Given the description of an element on the screen output the (x, y) to click on. 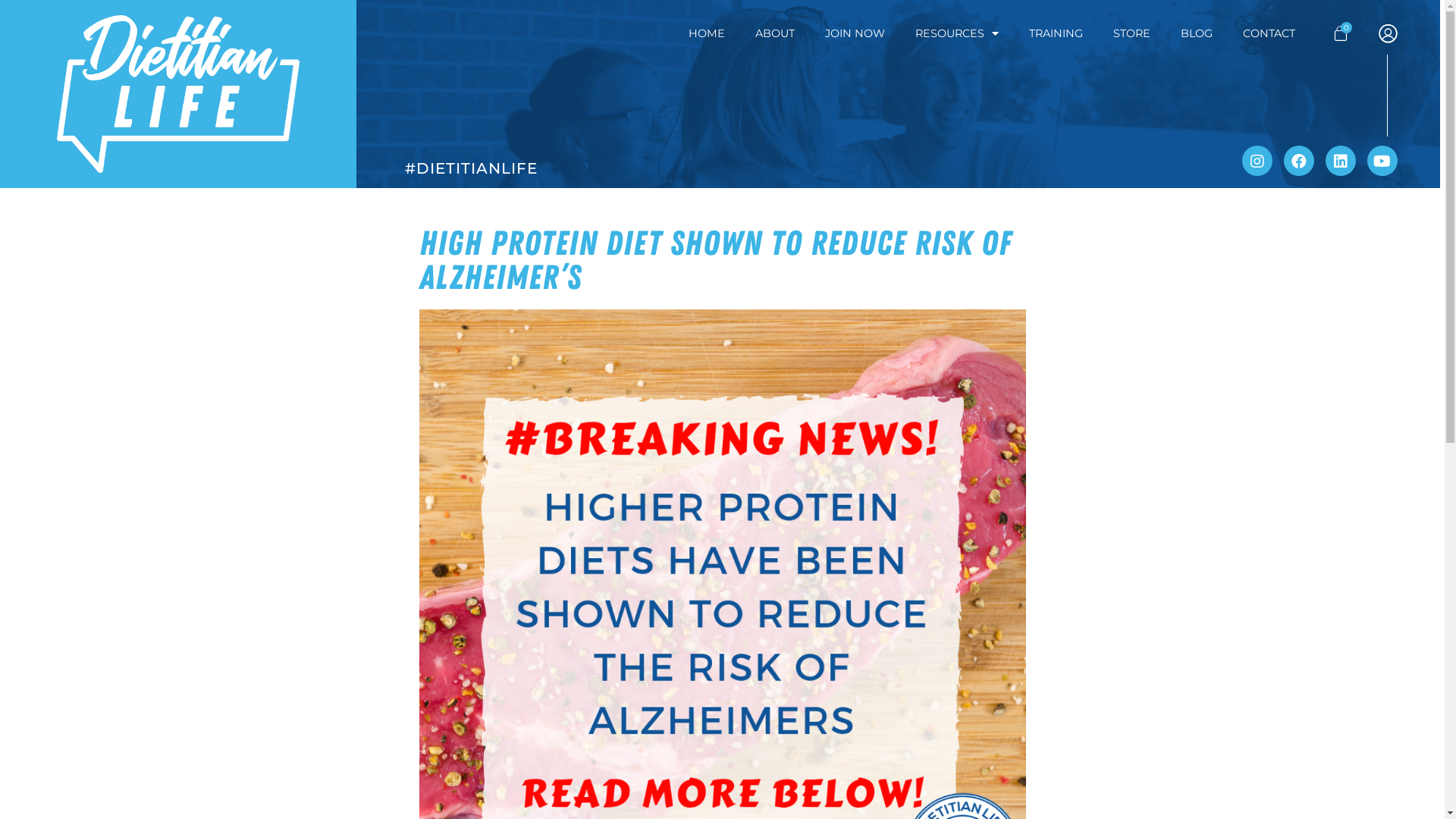
CONTACT Element type: text (1268, 32)
JOIN NOW Element type: text (854, 32)
ABOUT Element type: text (774, 32)
TRAINING Element type: text (1055, 32)
STORE Element type: text (1131, 32)
HOME Element type: text (706, 32)
0 Element type: text (1340, 33)
BLOG Element type: text (1196, 32)
RESOURCES Element type: text (956, 32)
